Given the description of an element on the screen output the (x, y) to click on. 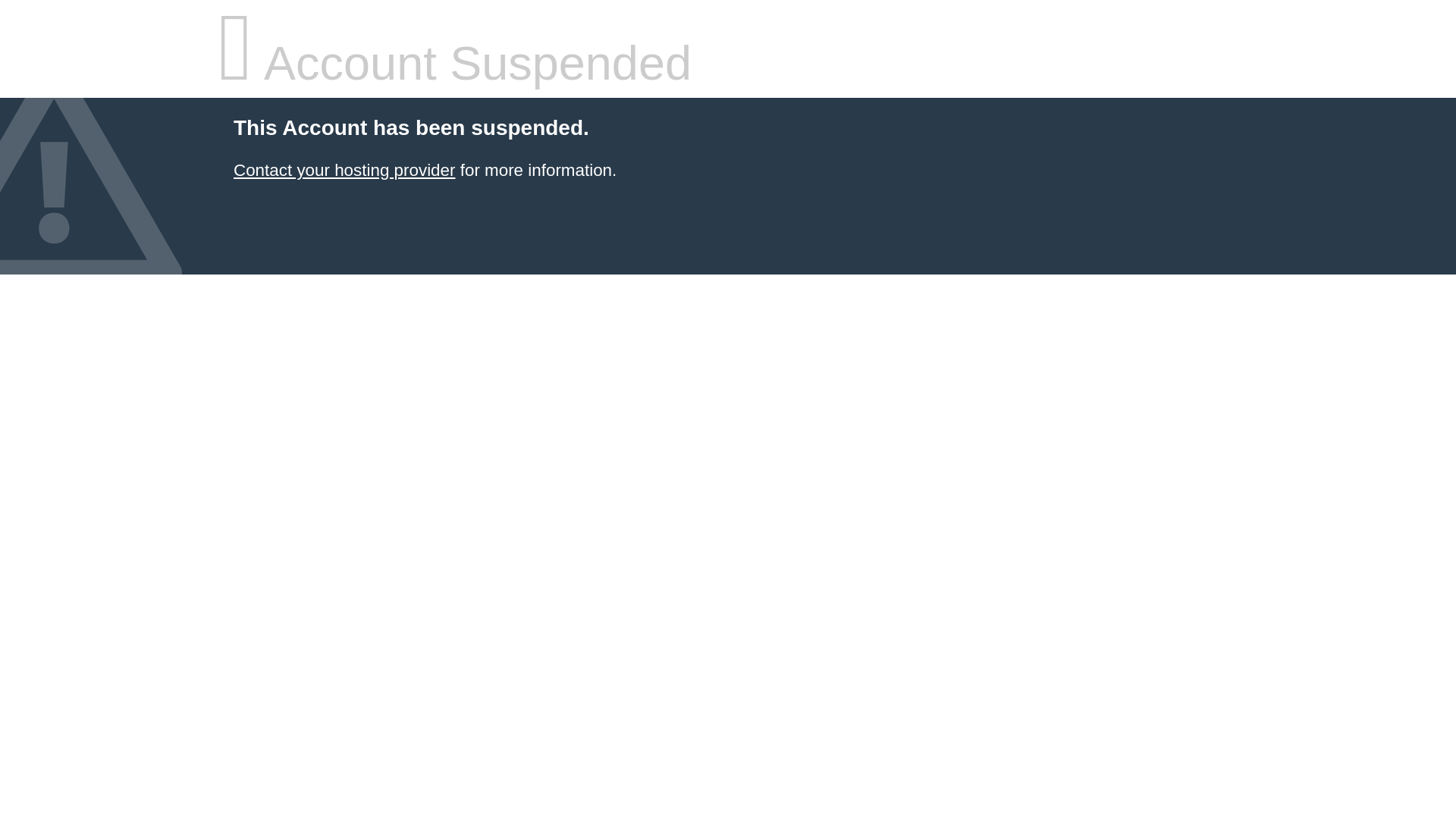
Contact your hosting provider (343, 169)
